Given the description of an element on the screen output the (x, y) to click on. 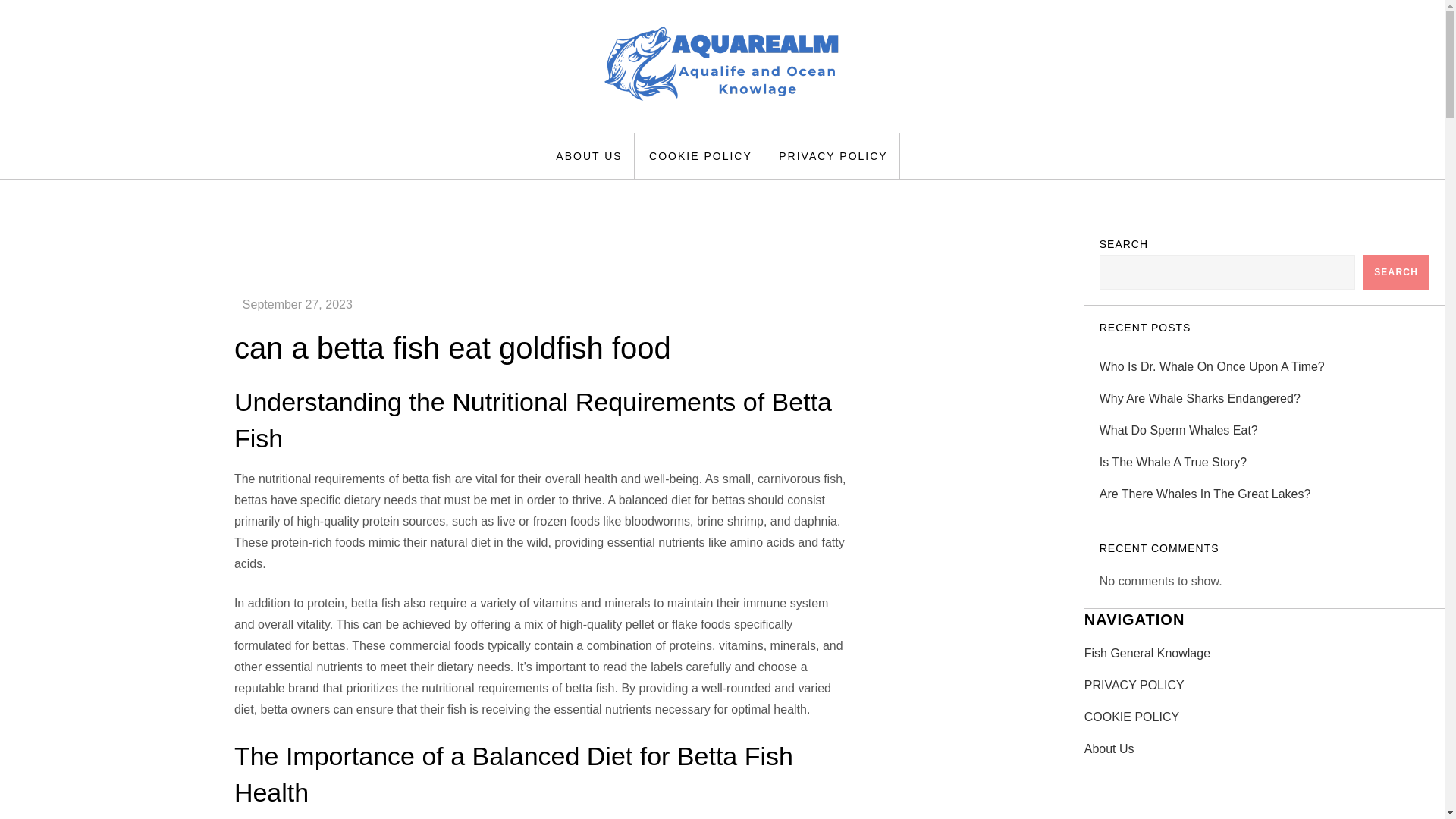
Who Is Dr. Whale On Once Upon A Time? (1211, 366)
Is The Whale A True Story? (1172, 462)
September 27, 2023 (297, 304)
About Us (1109, 749)
PRIVACY POLICY (833, 156)
ABOUT US (588, 156)
Fish General Knowlage (1146, 653)
PRIVACY POLICY (1134, 685)
COOKIE POLICY (1131, 717)
What Do Sperm Whales Eat? (1178, 430)
Are There Whales In The Great Lakes? (1205, 494)
AQUA REALM (354, 131)
SEARCH (1395, 271)
Why Are Whale Sharks Endangered? (1199, 398)
COOKIE POLICY (700, 156)
